Given the description of an element on the screen output the (x, y) to click on. 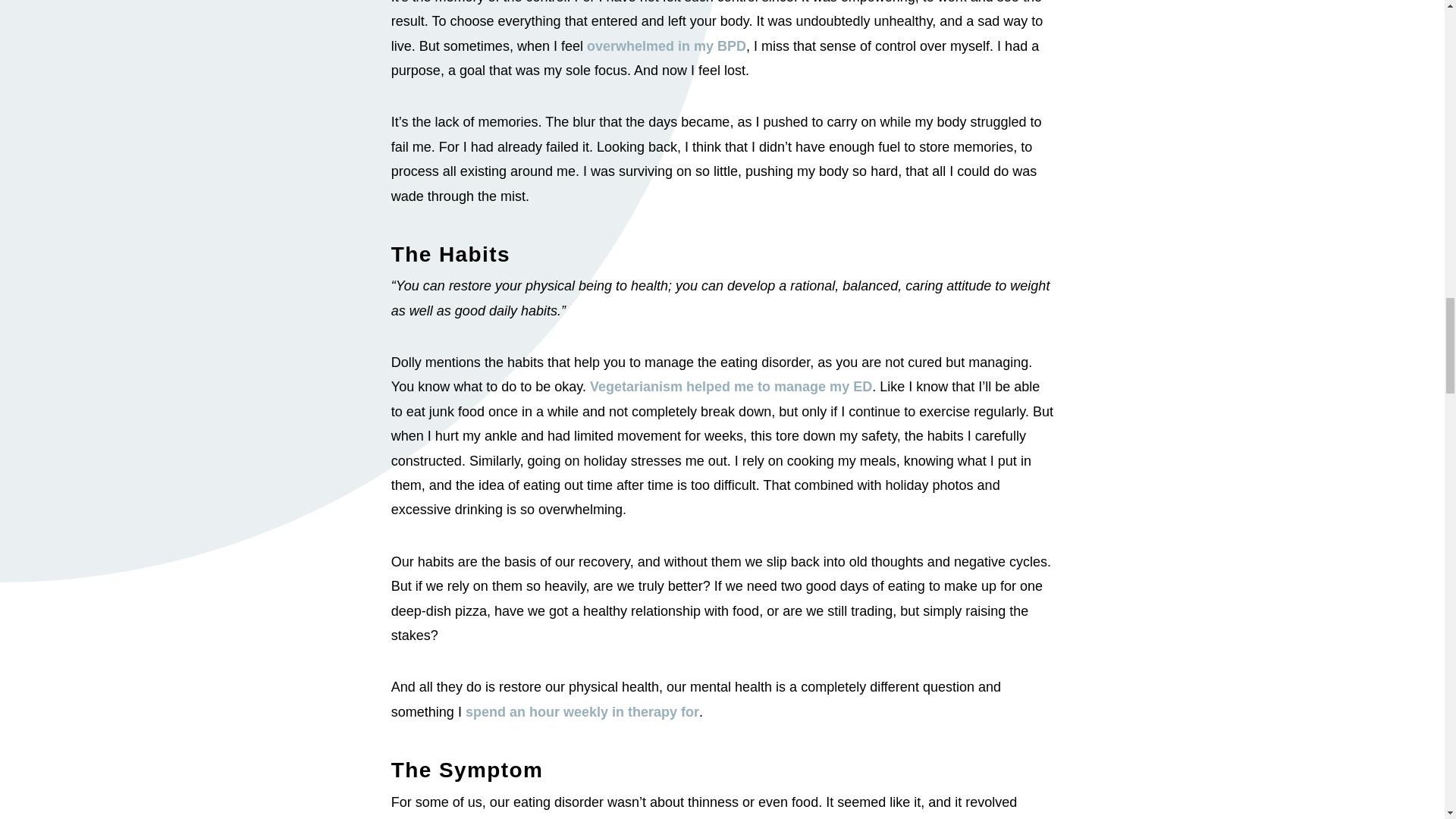
overwhelmed in my BPD (665, 46)
spend an hour weekly in therapy for (581, 711)
Vegetarianism helped me to manage my ED (730, 386)
